Given the description of an element on the screen output the (x, y) to click on. 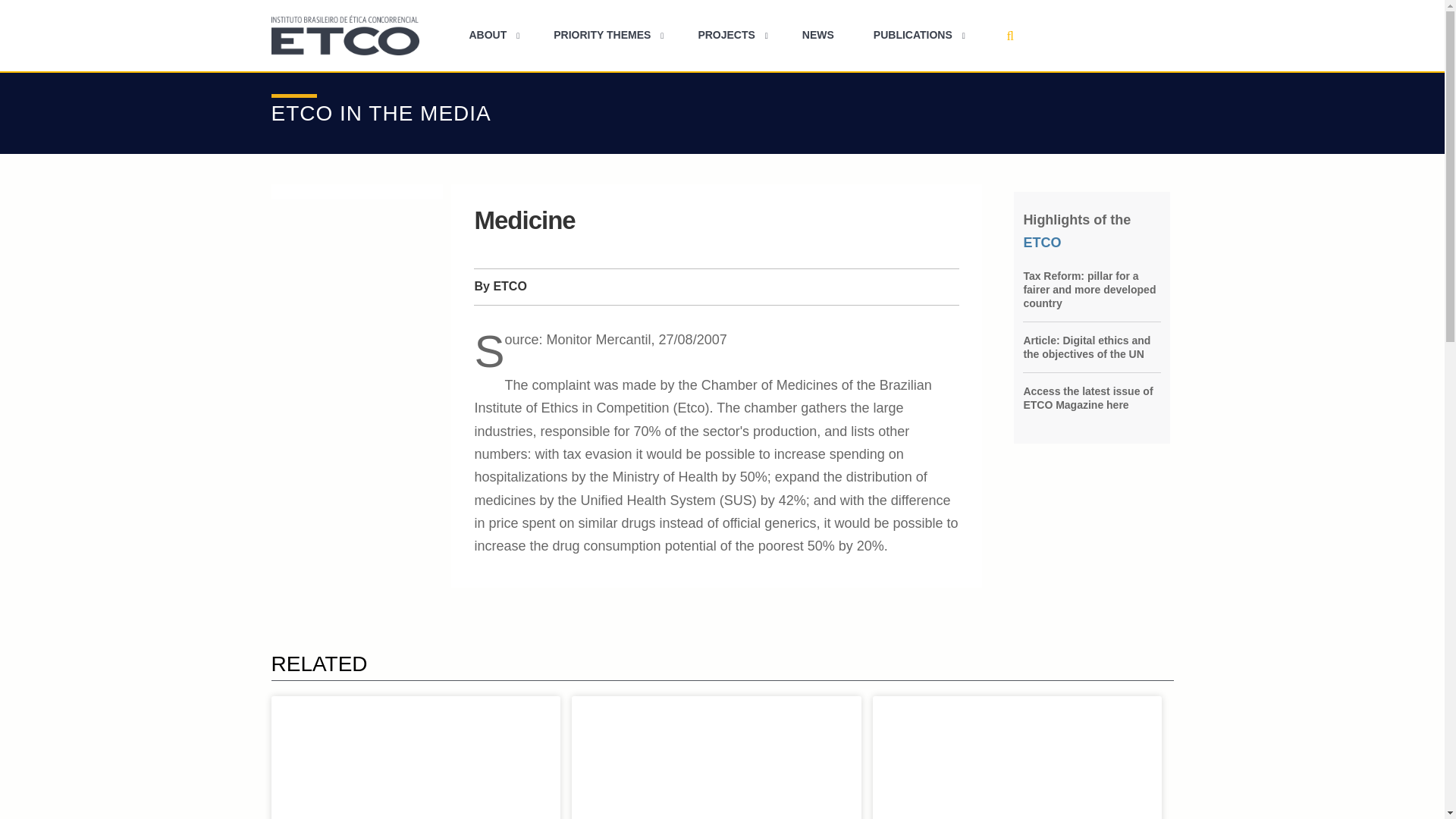
Tax Reform: pillar for a fairer and more developed country (1091, 289)
PUBLICATIONS (916, 35)
ABOUT (491, 35)
PROJECTS (729, 35)
Article: Digital ethics and the objectives of the UN (1091, 347)
NEWS (818, 35)
Access the latest issue of ETCO Magazine here (1091, 397)
PRIORITY THEMES (606, 35)
